Given the description of an element on the screen output the (x, y) to click on. 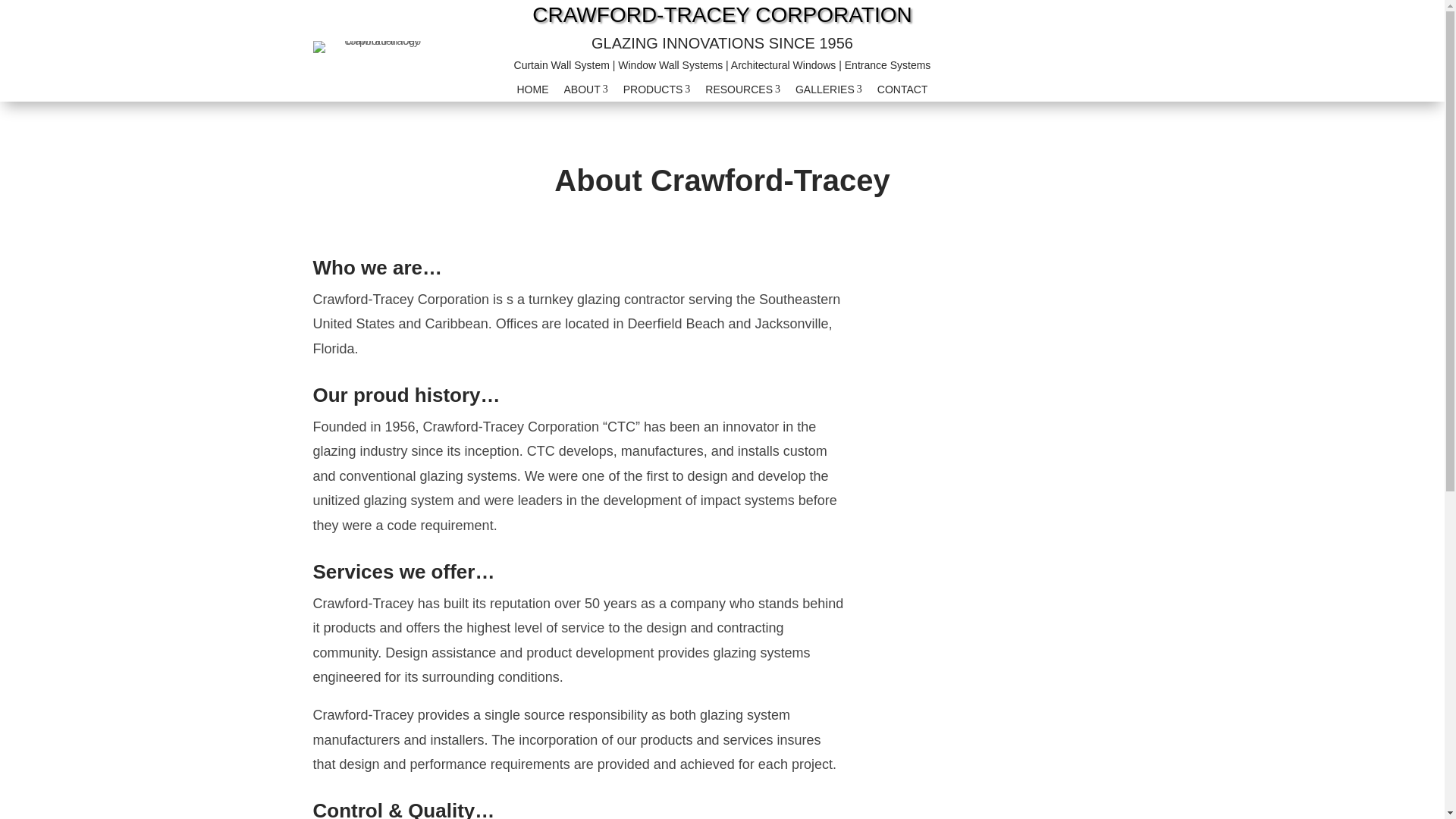
HOME (827, 89)
CONTACT (532, 89)
